Given the description of an element on the screen output the (x, y) to click on. 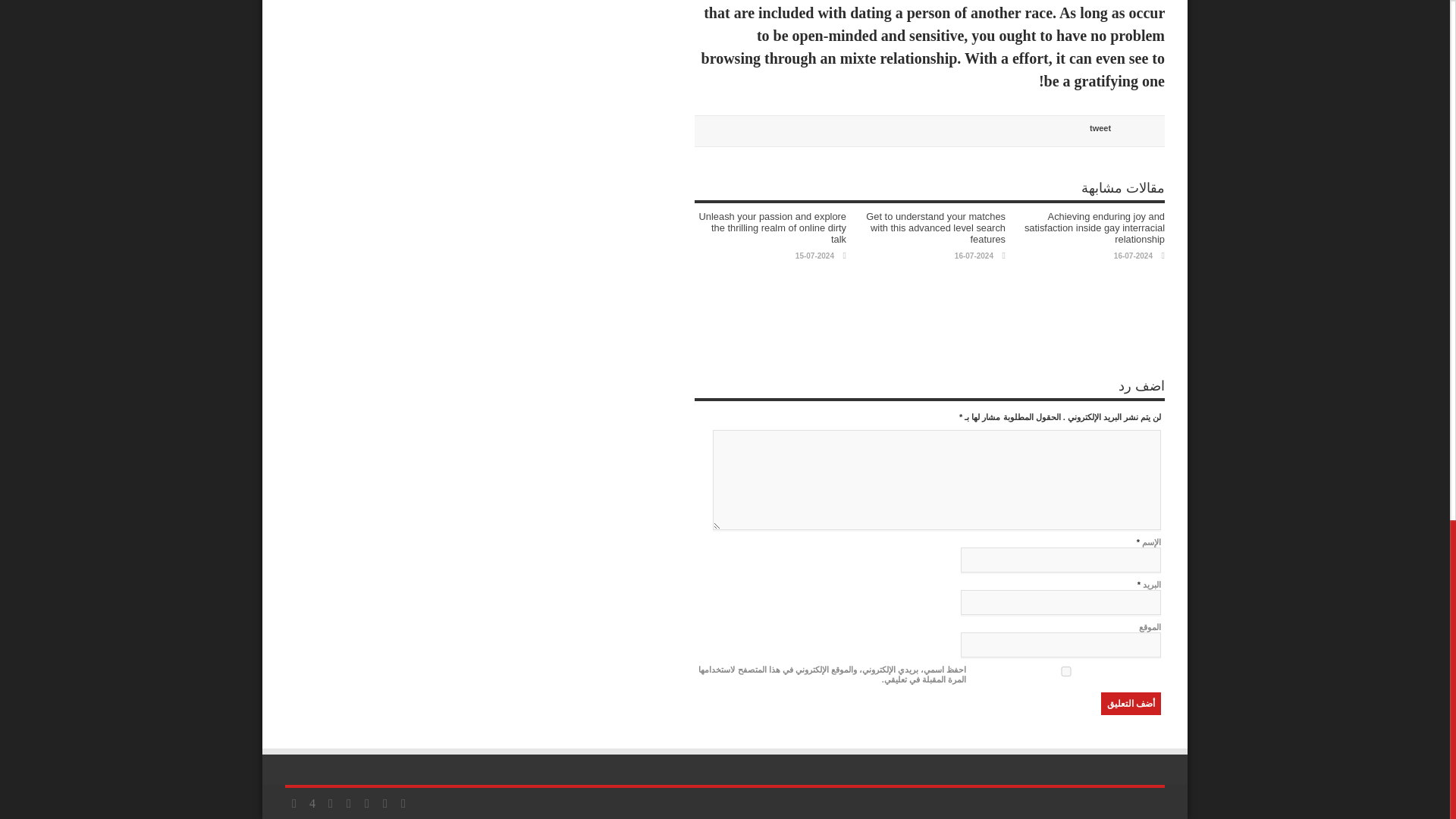
yes (1065, 671)
tweet (1099, 127)
